Given the description of an element on the screen output the (x, y) to click on. 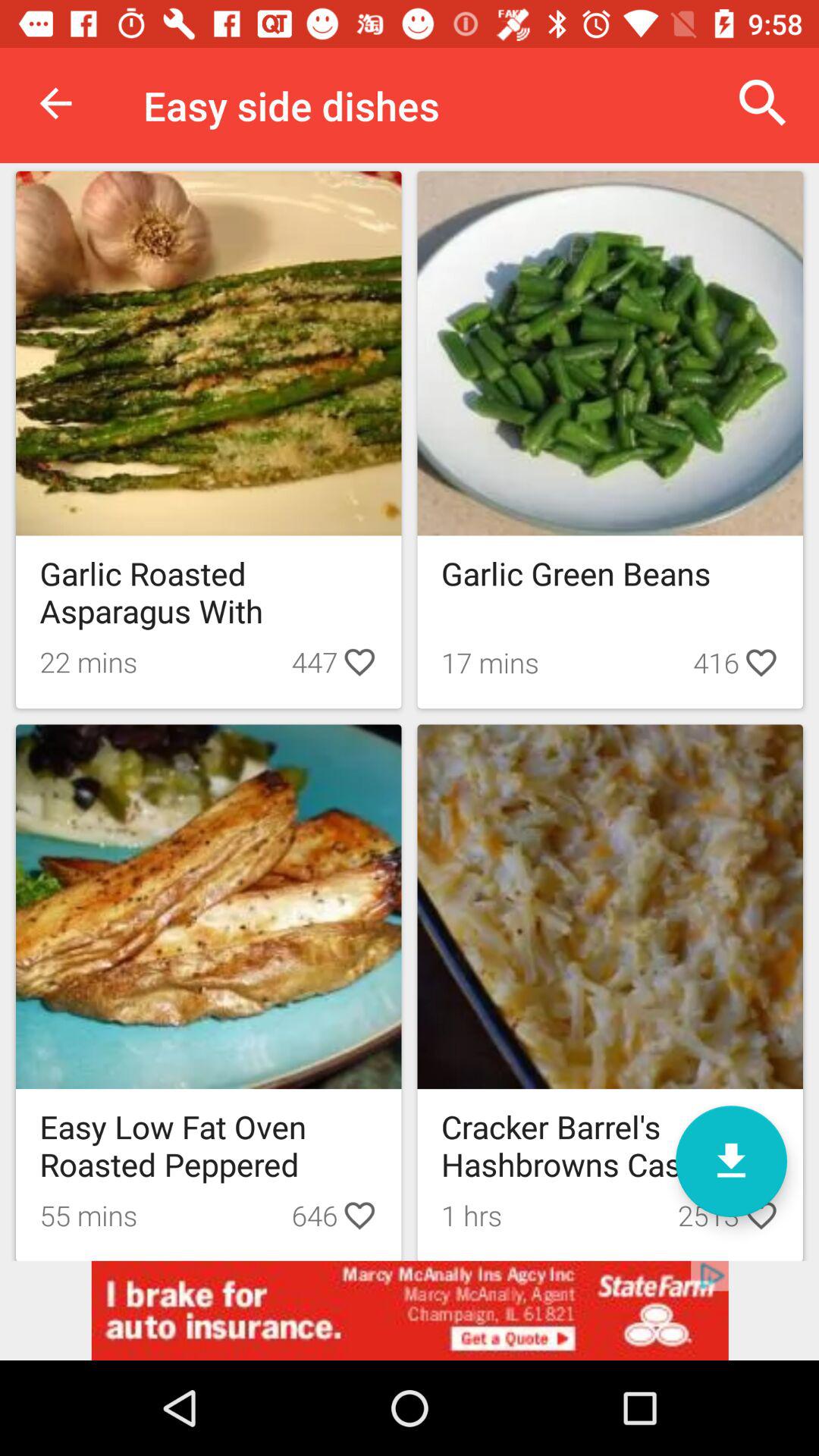
download recipe (731, 1161)
